Given the description of an element on the screen output the (x, y) to click on. 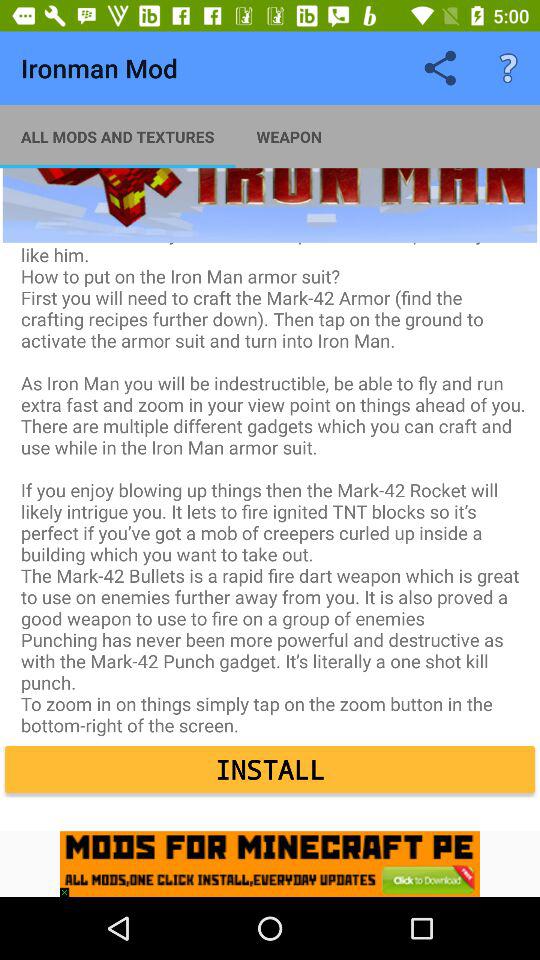
tap weapon icon (289, 136)
